Given the description of an element on the screen output the (x, y) to click on. 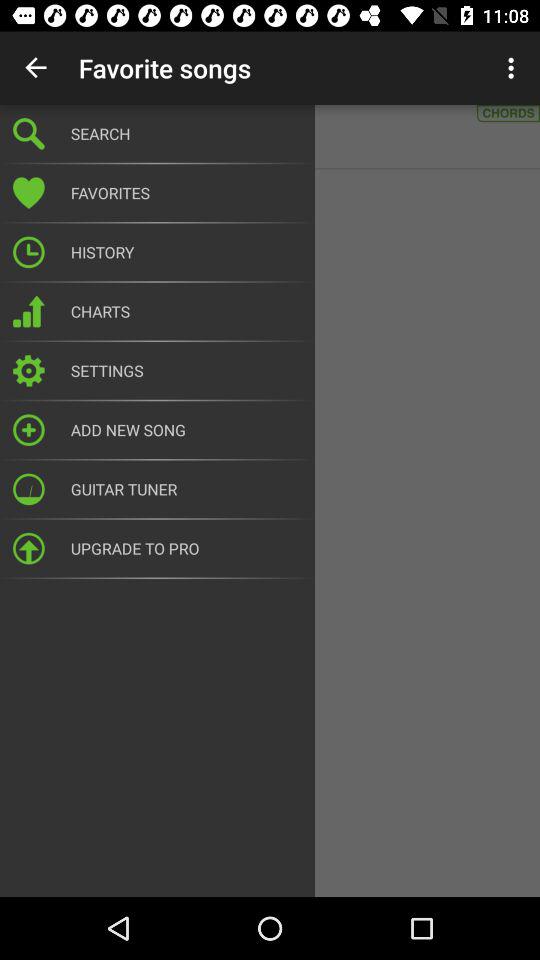
scroll to upgrade to pro item (185, 548)
